Given the description of an element on the screen output the (x, y) to click on. 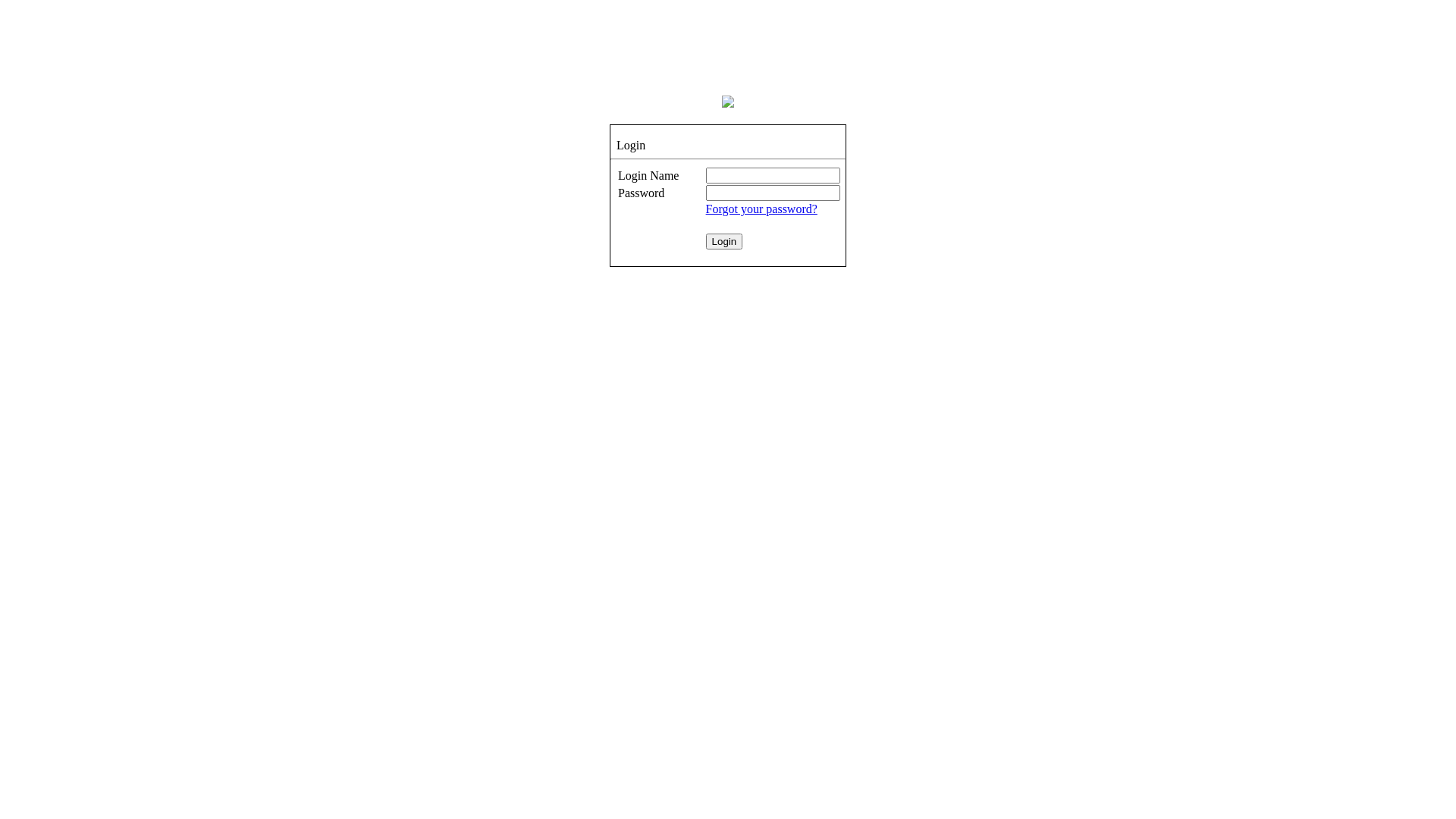
Forgot your password? Element type: text (761, 208)
Login Element type: text (724, 241)
